Given the description of an element on the screen output the (x, y) to click on. 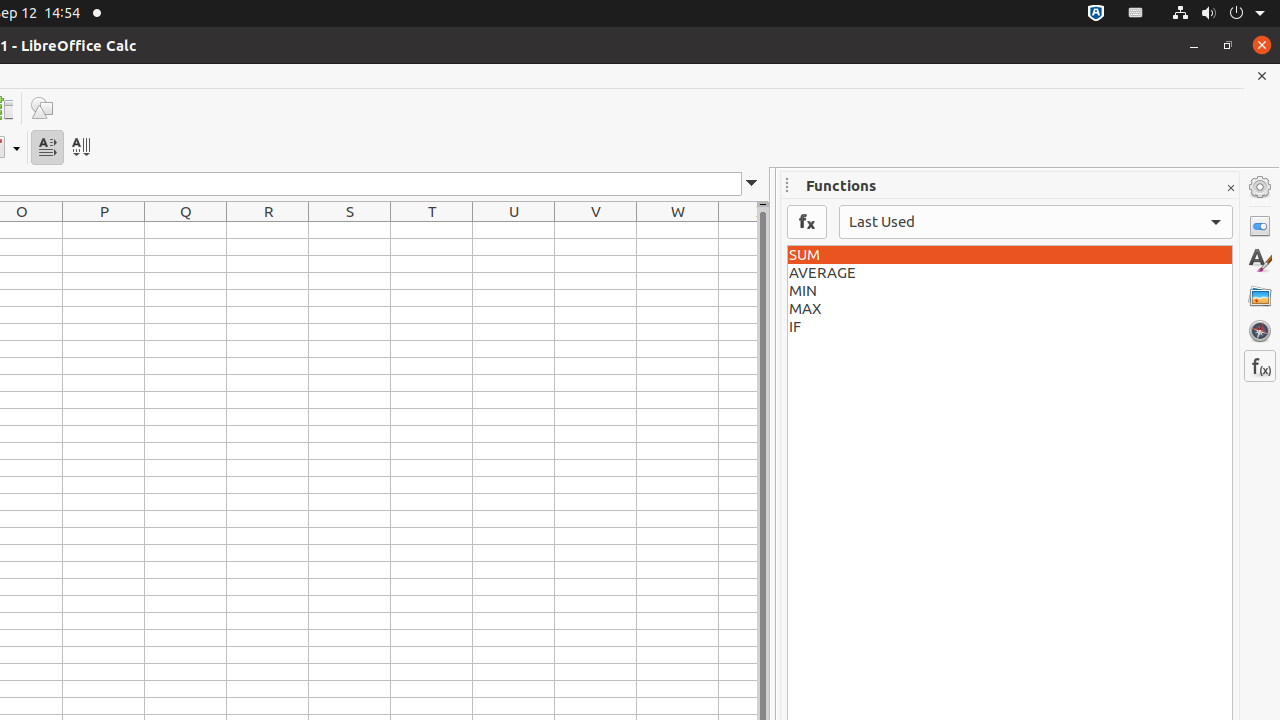
X1 Element type: table-cell (738, 230)
Insert Function into calculation sheet Element type: push-button (807, 222)
MAX Element type: list-item (1010, 309)
:1.72/StatusNotifierItem Element type: menu (1096, 13)
:1.21/StatusNotifierItem Element type: menu (1136, 13)
